Given the description of an element on the screen output the (x, y) to click on. 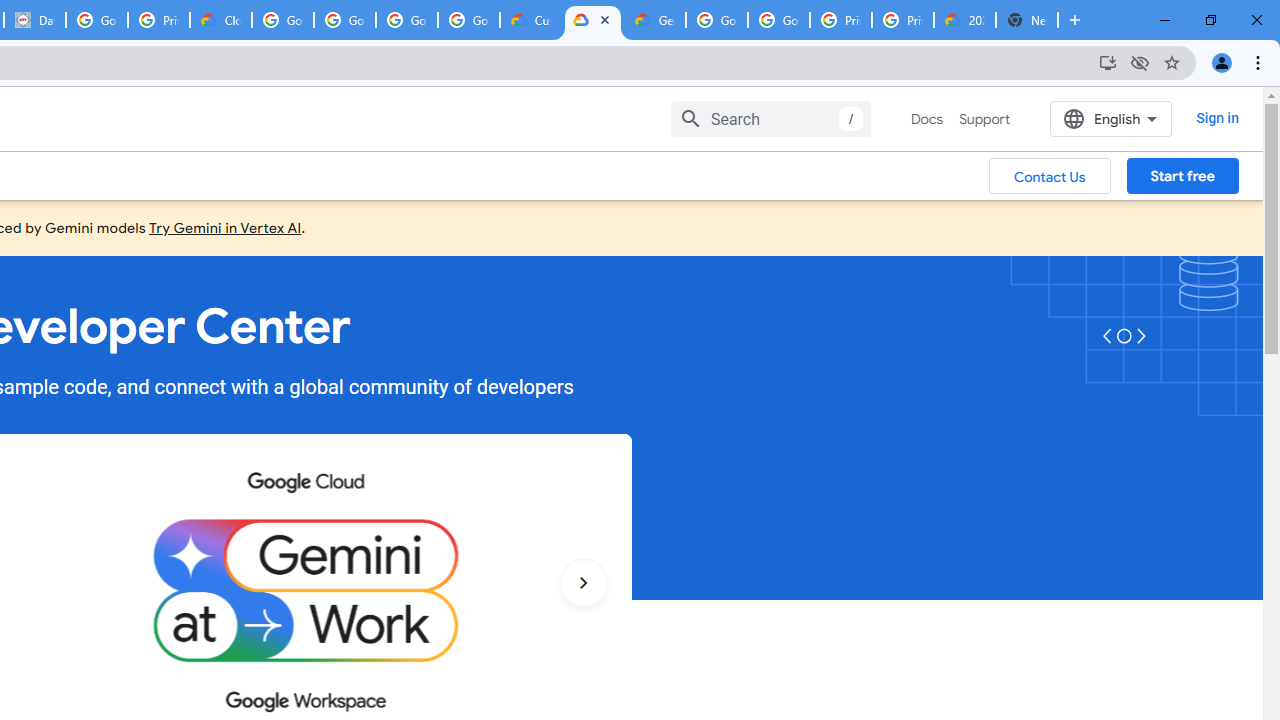
Gemini for Business and Developers | Google Cloud (654, 20)
Customer Care | Google Cloud (530, 20)
Google Cloud Platform (778, 20)
Docs (927, 119)
English (1110, 118)
Google Cloud Platform (716, 20)
New Tab (1026, 20)
